Given the description of an element on the screen output the (x, y) to click on. 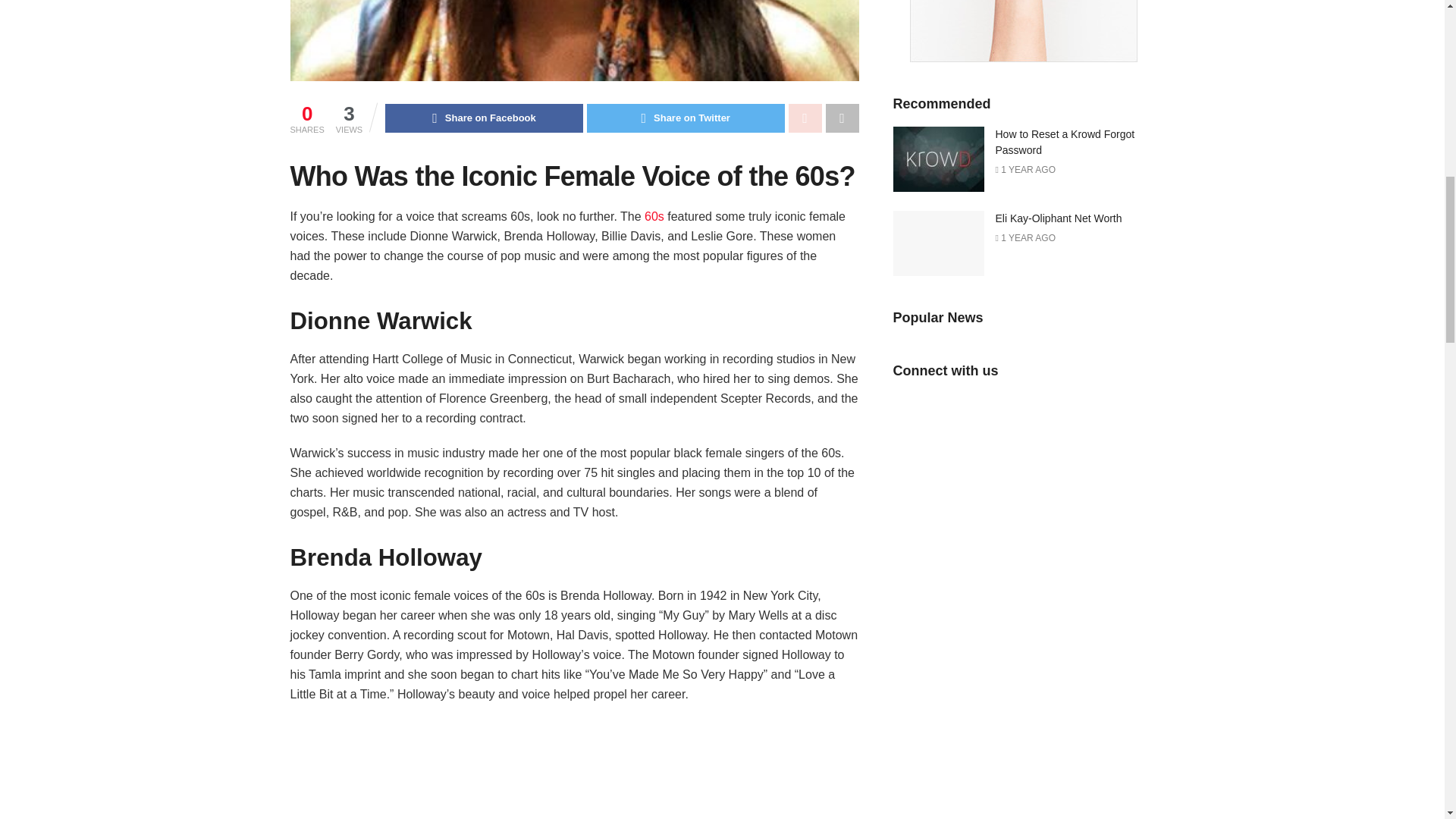
Donna  Summer   --    Hot   Stuff  Video  HQ (574, 769)
